Given the description of an element on the screen output the (x, y) to click on. 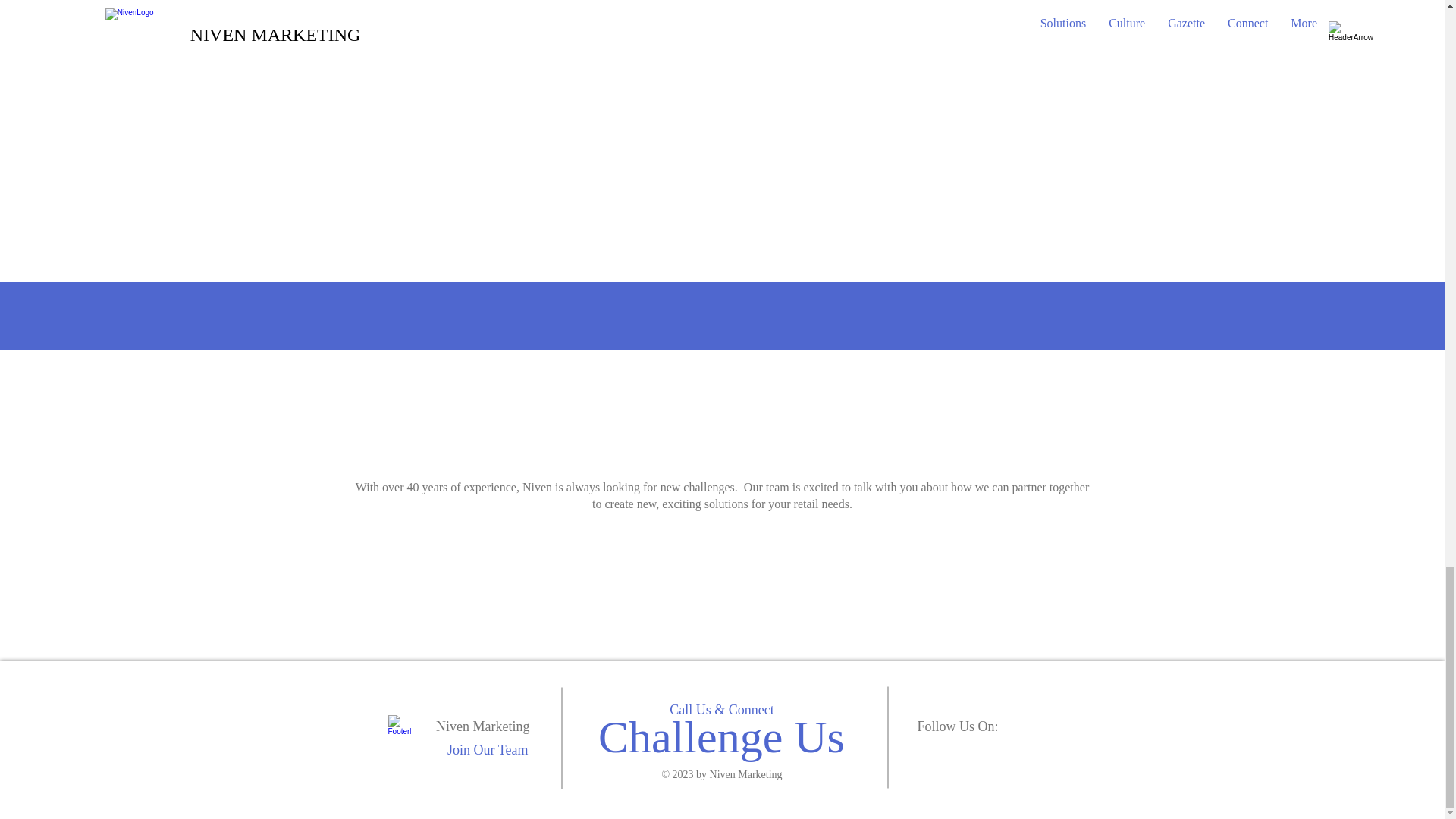
Join Our Team (486, 749)
Challenge Us (721, 736)
